Given the description of an element on the screen output the (x, y) to click on. 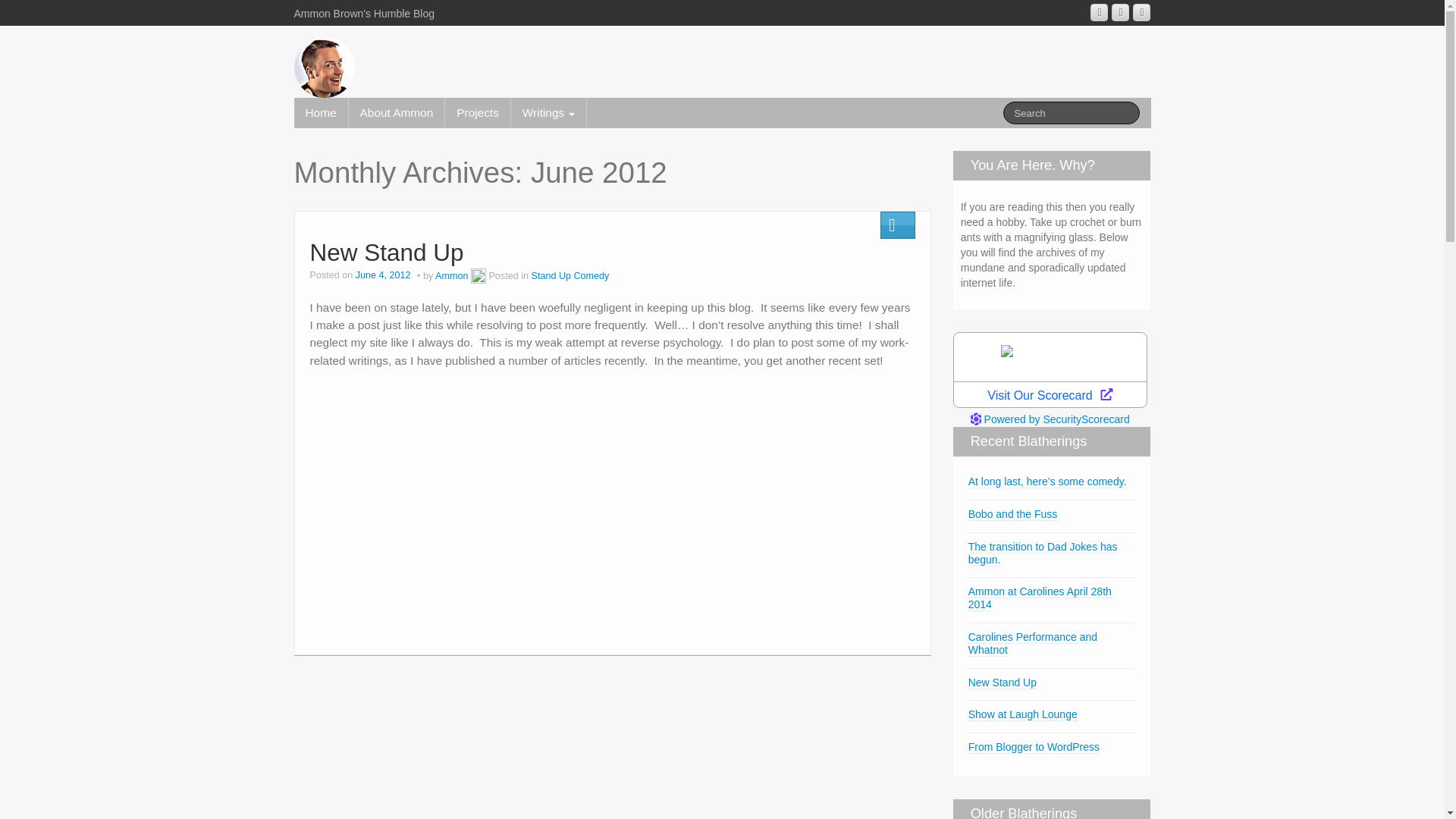
Writings (548, 112)
Projects (478, 112)
Ammon (451, 276)
Ammon Brown Vimeo (1120, 12)
Ammon Brown Security Rating (1050, 419)
June 4, 2012 (384, 276)
Carolines Performance and Whatnot (1032, 643)
View all posts by Ammon (451, 276)
Show at Laugh Lounge (1022, 714)
About Ammon (397, 112)
